Given the description of an element on the screen output the (x, y) to click on. 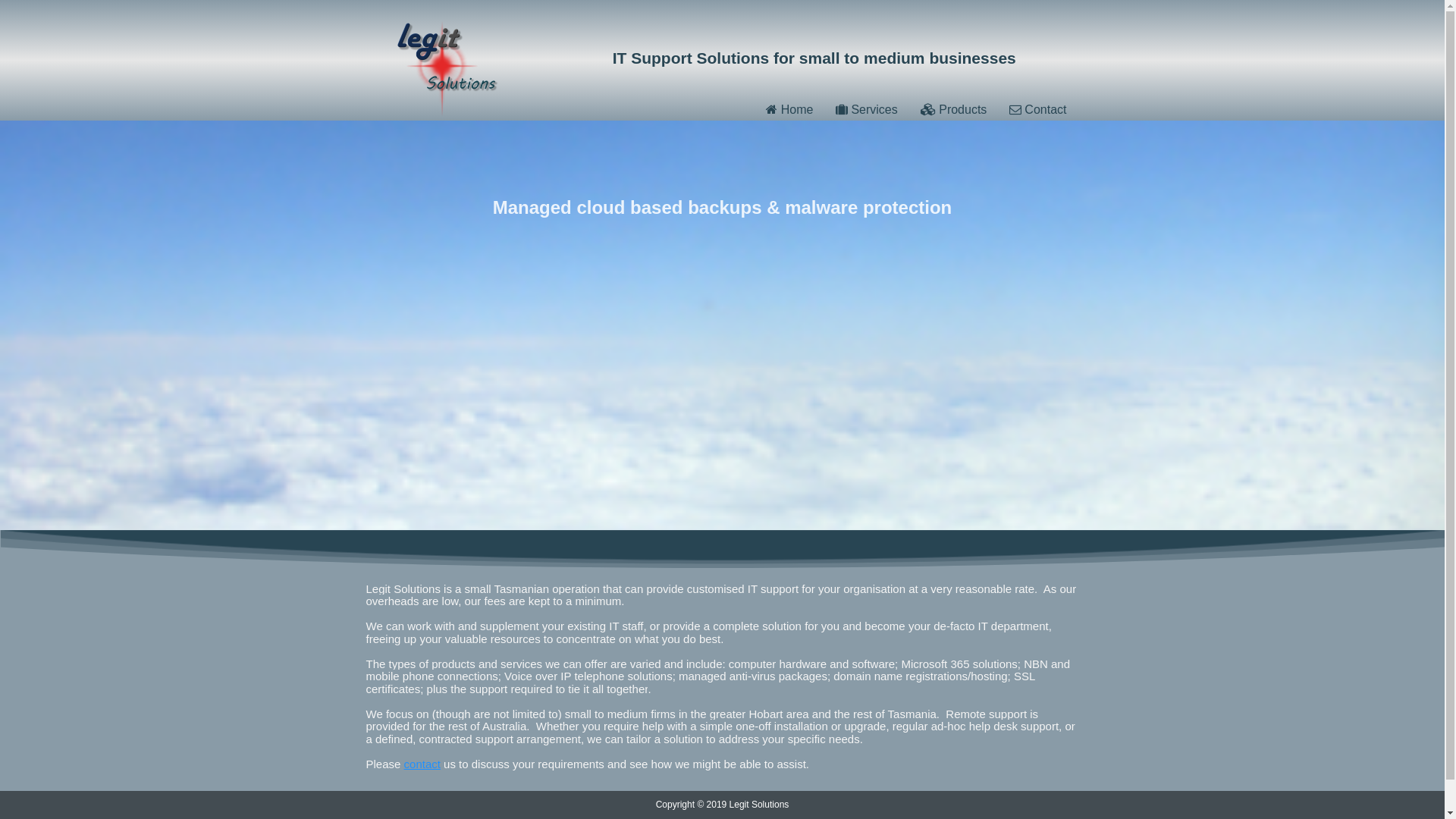
Legit Solutions Element type: hover (446, 67)
Products Element type: text (953, 109)
Services Element type: text (866, 109)
Contact Element type: text (1037, 109)
Home Element type: text (789, 109)
contact Element type: text (422, 763)
